Given the description of an element on the screen output the (x, y) to click on. 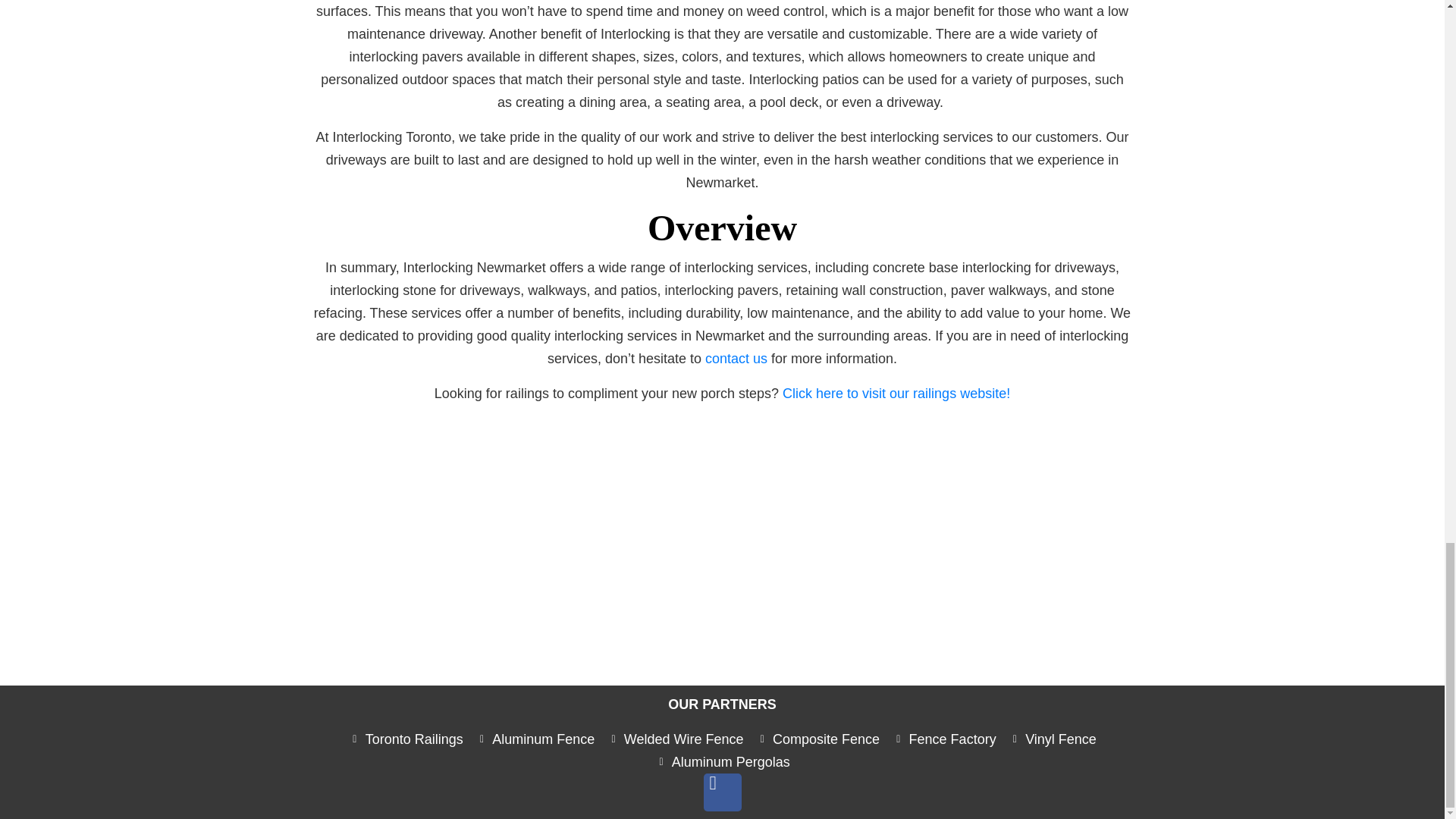
Aluminum Fence (535, 739)
Toronto Railings (405, 739)
Composite Fence (817, 739)
Welded Wire Fence (674, 739)
Vinyl Fence (1052, 739)
Click here to visit our railings website! (896, 393)
Fence Factory (943, 739)
contact us (735, 358)
Aluminum Pergolas (721, 762)
